Given the description of an element on the screen output the (x, y) to click on. 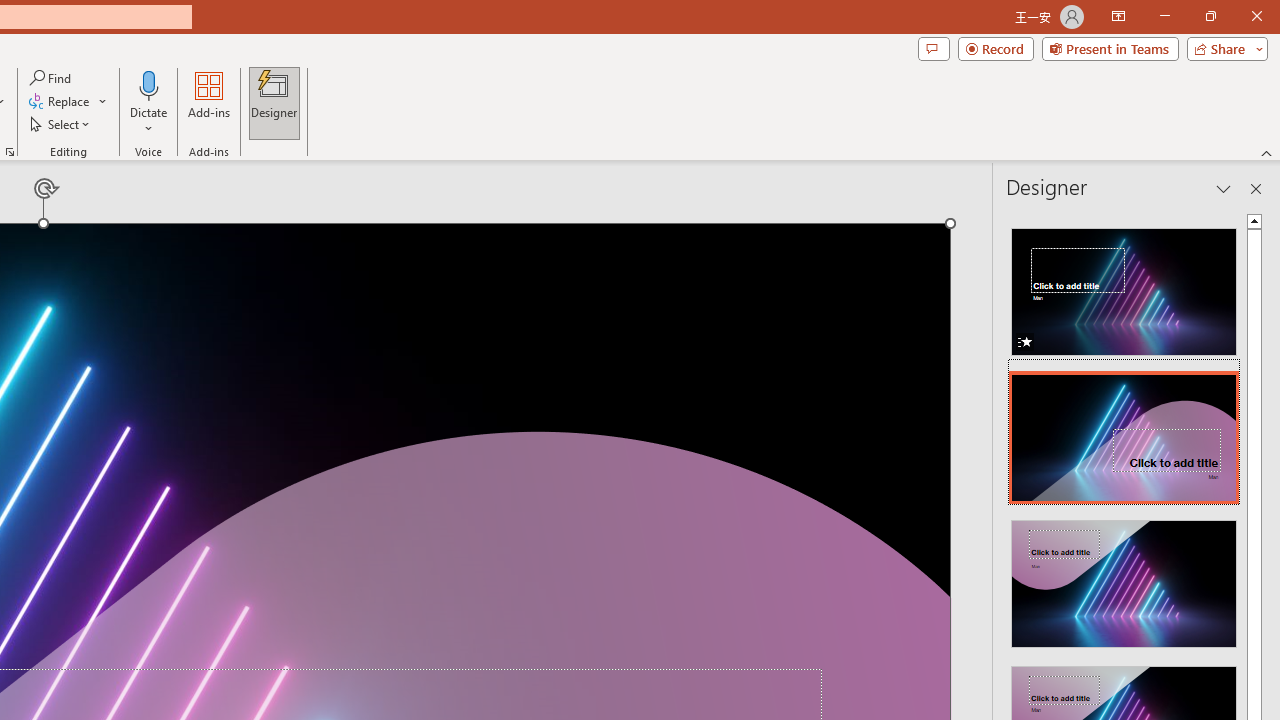
Design Idea with Animation (1124, 431)
